Given the description of an element on the screen output the (x, y) to click on. 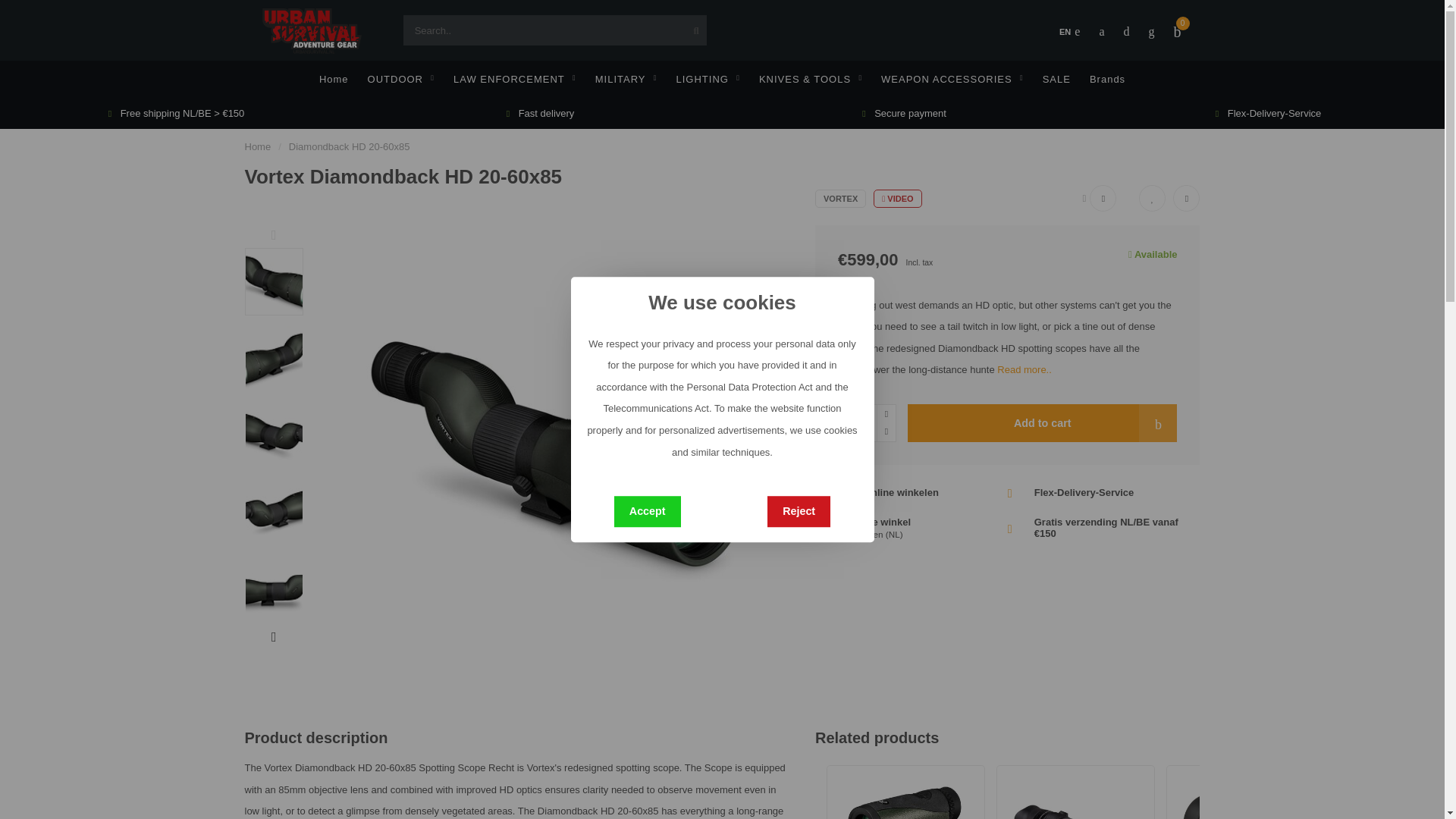
EN (1069, 31)
OUTDOOR (400, 79)
Home (257, 146)
1 (866, 422)
